Given the description of an element on the screen output the (x, y) to click on. 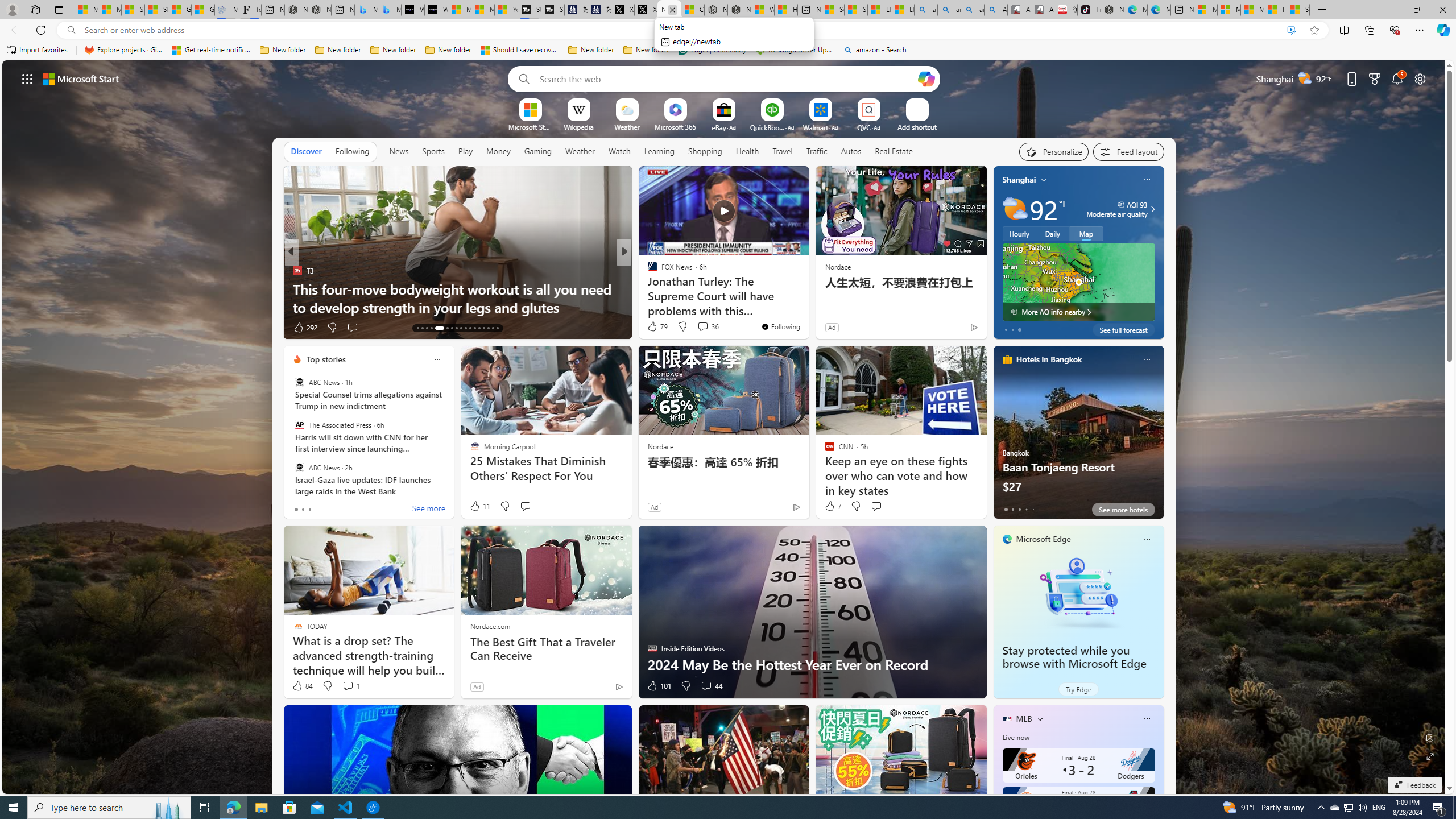
HuffPost (647, 270)
View comments 8 Comment (698, 327)
I Gained 20 Pounds of Muscle in 30 Days! | Watch (1275, 9)
Back (13, 29)
Amazon Echo Robot - Search Images (995, 9)
Cool Weather Activities May Have To Wait Past September (807, 298)
11 Like (479, 505)
AutomationID: tab-22 (465, 328)
Class: control (27, 78)
Autos (851, 151)
AutomationID: waffle (27, 78)
New tab (1182, 9)
